Given the description of an element on the screen output the (x, y) to click on. 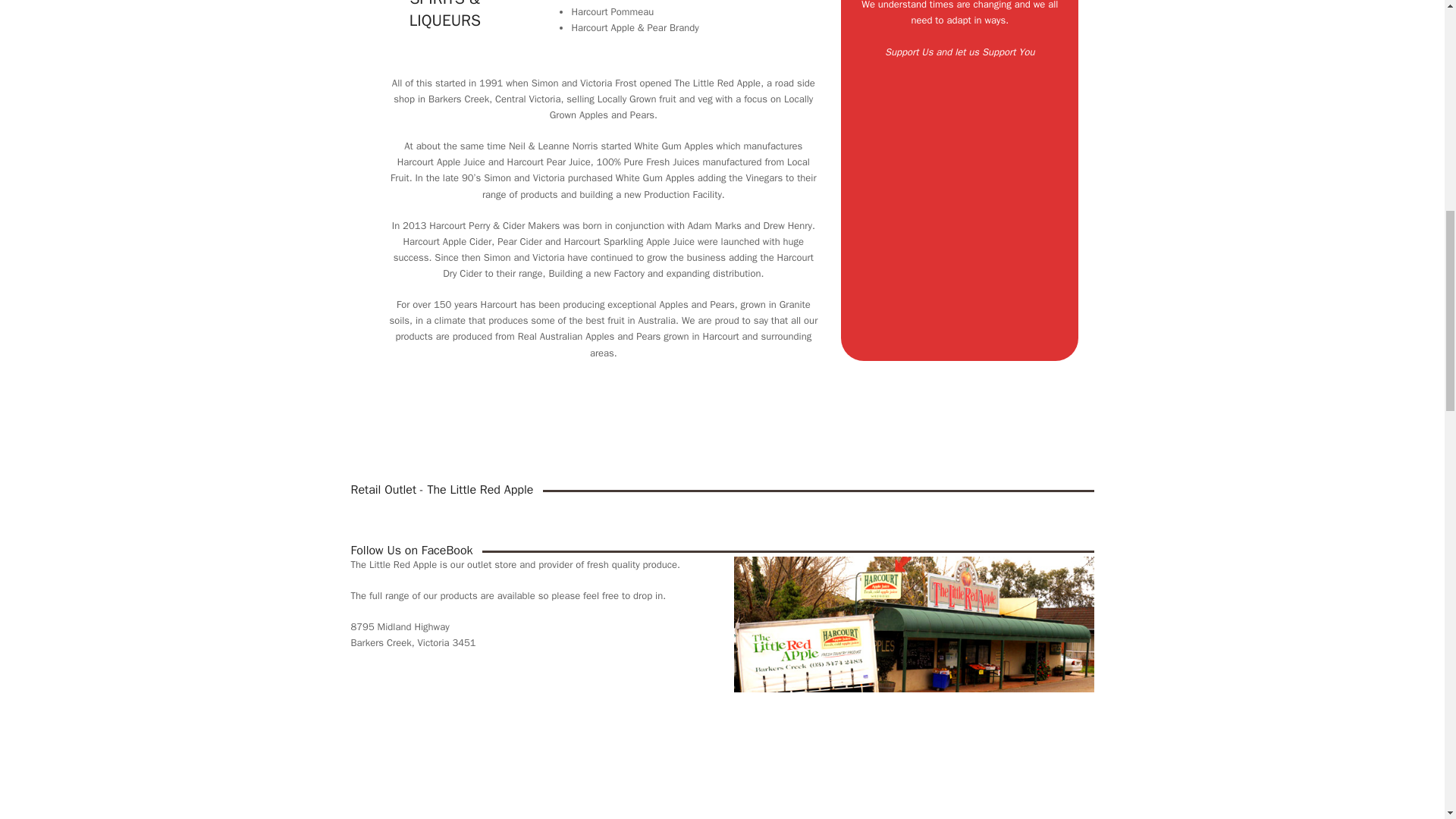
Little Red Apple Shop Front (913, 624)
